Given the description of an element on the screen output the (x, y) to click on. 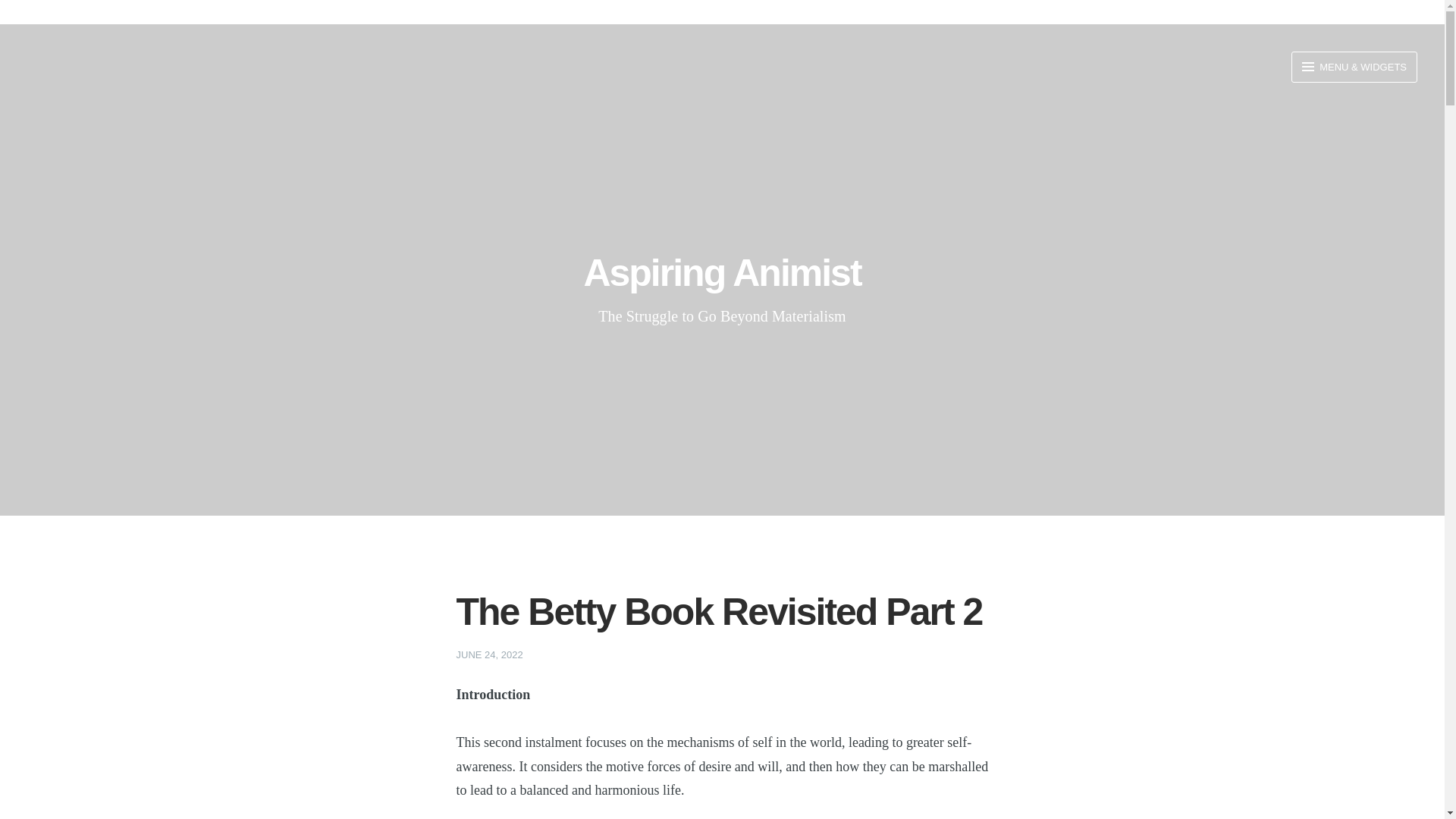
Aspiring Animist (721, 272)
JUNE 24, 2022 (489, 653)
